Given the description of an element on the screen output the (x, y) to click on. 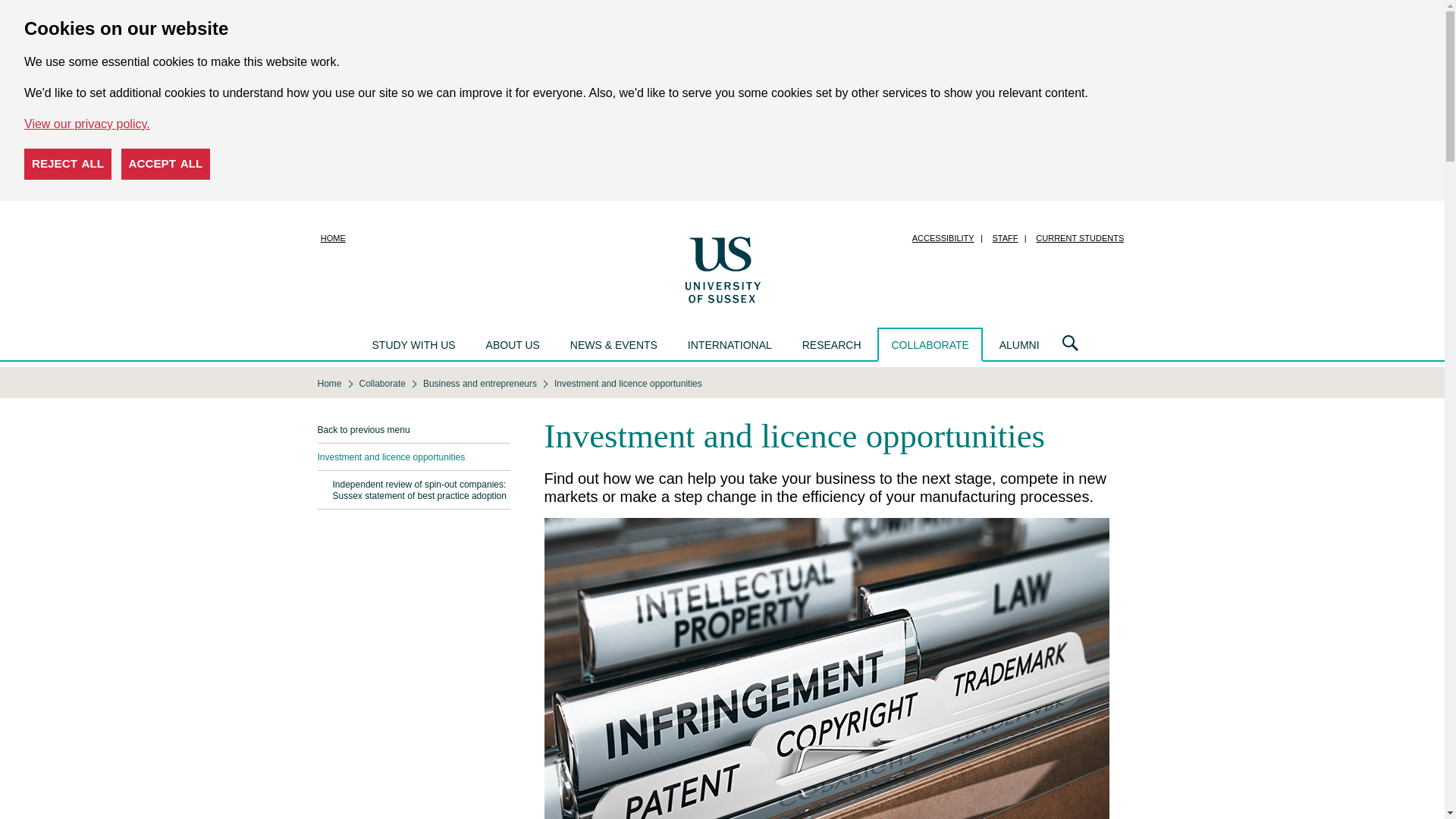
STAFF (1005, 238)
HOME (333, 238)
View our privacy policy. (86, 123)
University of Sussex (722, 268)
ACCESSIBILITY (942, 238)
CURRENT STUDENTS (1079, 238)
Search (1070, 343)
ACCEPT ALL (165, 163)
REJECT ALL (68, 163)
STUDY WITH US (413, 345)
